Given the description of an element on the screen output the (x, y) to click on. 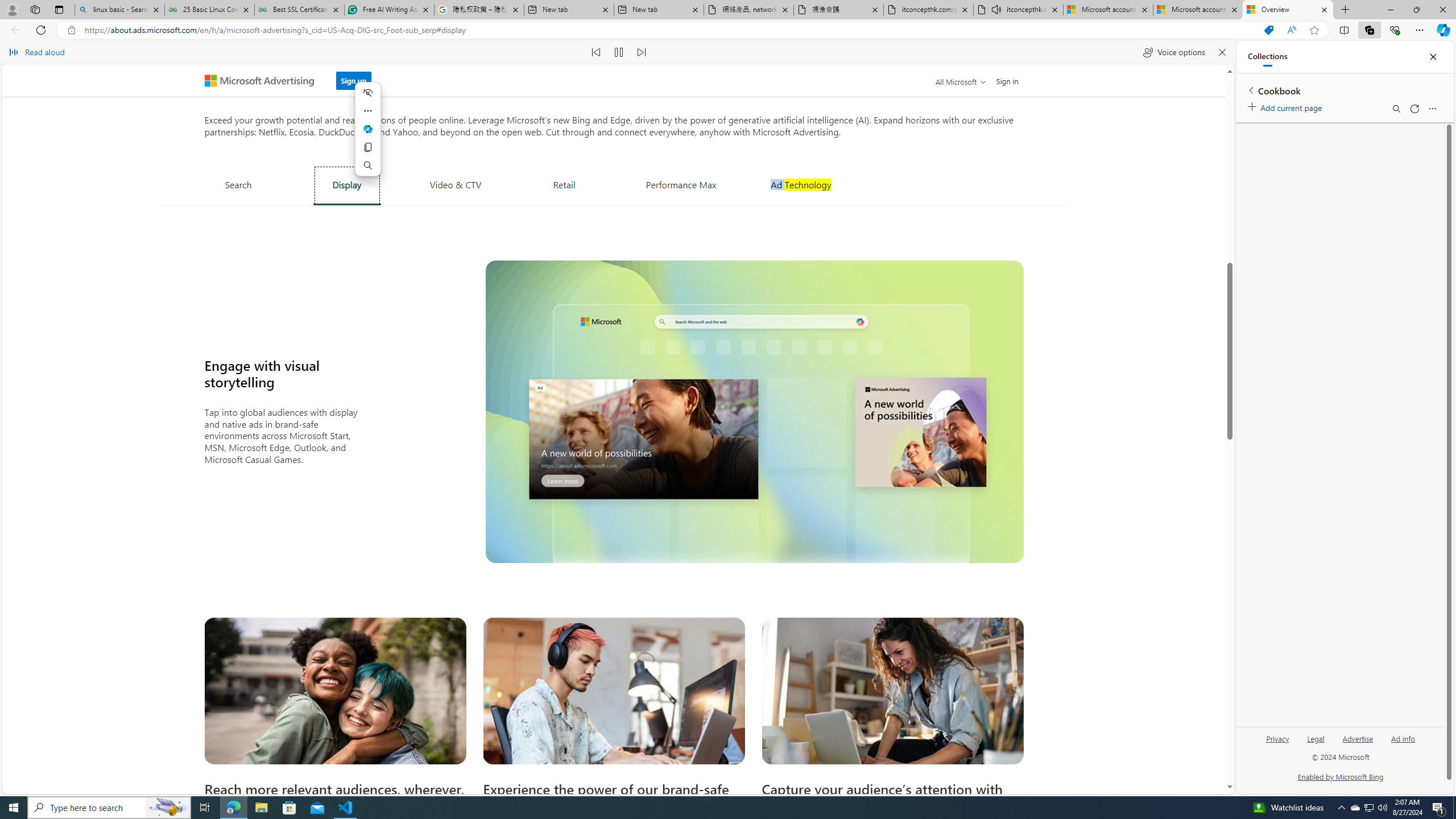
Best SSL Certificates Provider in India - GeeksforGeeks (298, 9)
Close read aloud (1221, 52)
Sign in (1007, 80)
Pause read aloud (Ctrl+Shift+U) (618, 52)
More options menu (1432, 108)
linux basic - Search (118, 9)
